Given the description of an element on the screen output the (x, y) to click on. 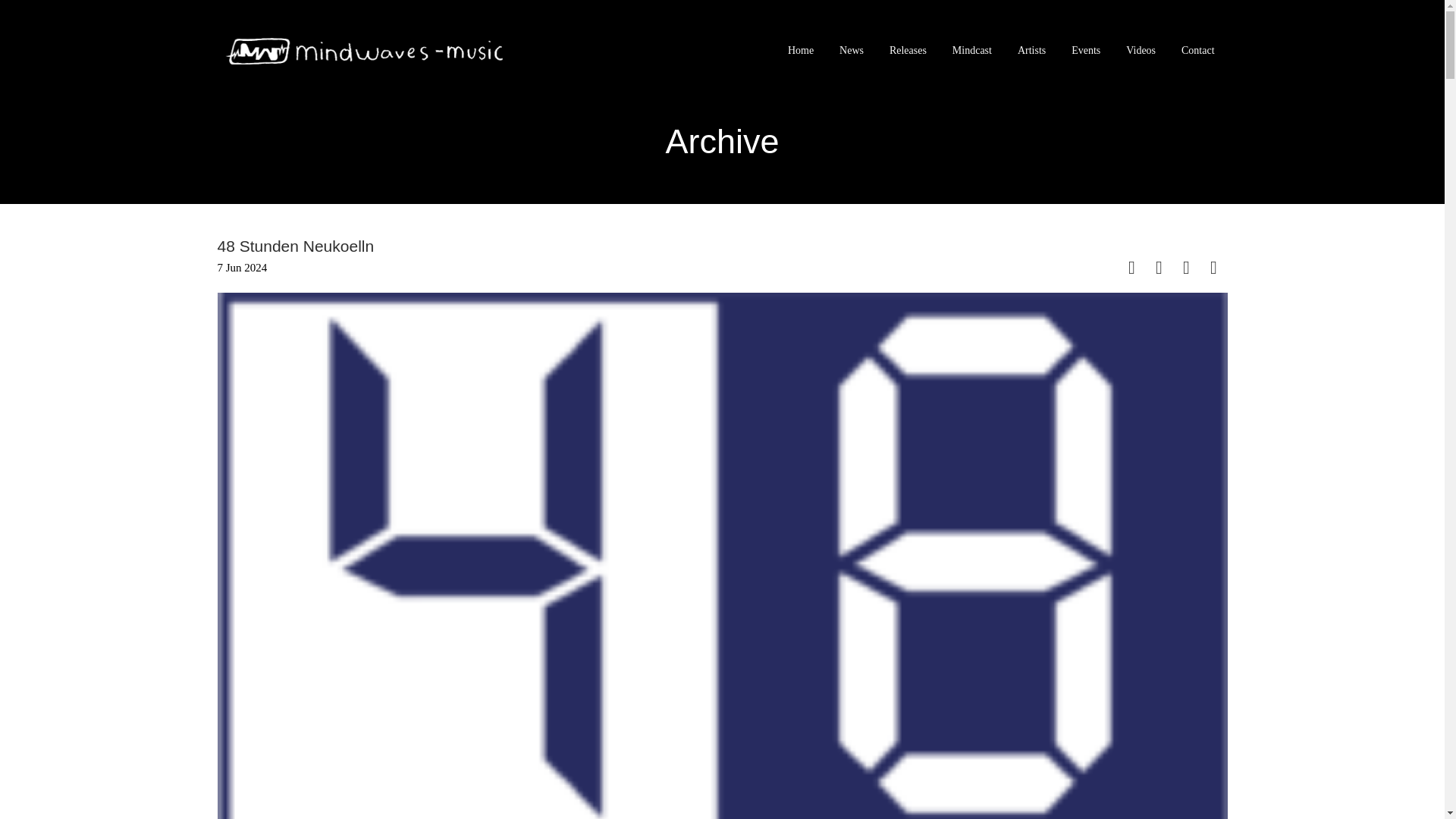
Mindcast (971, 51)
News (851, 51)
Contact (1198, 51)
48 Stunden Neukoelln (295, 245)
Events (1085, 51)
Home (800, 51)
Releases (907, 51)
Videos (1141, 51)
Artists (1031, 51)
